Given the description of an element on the screen output the (x, y) to click on. 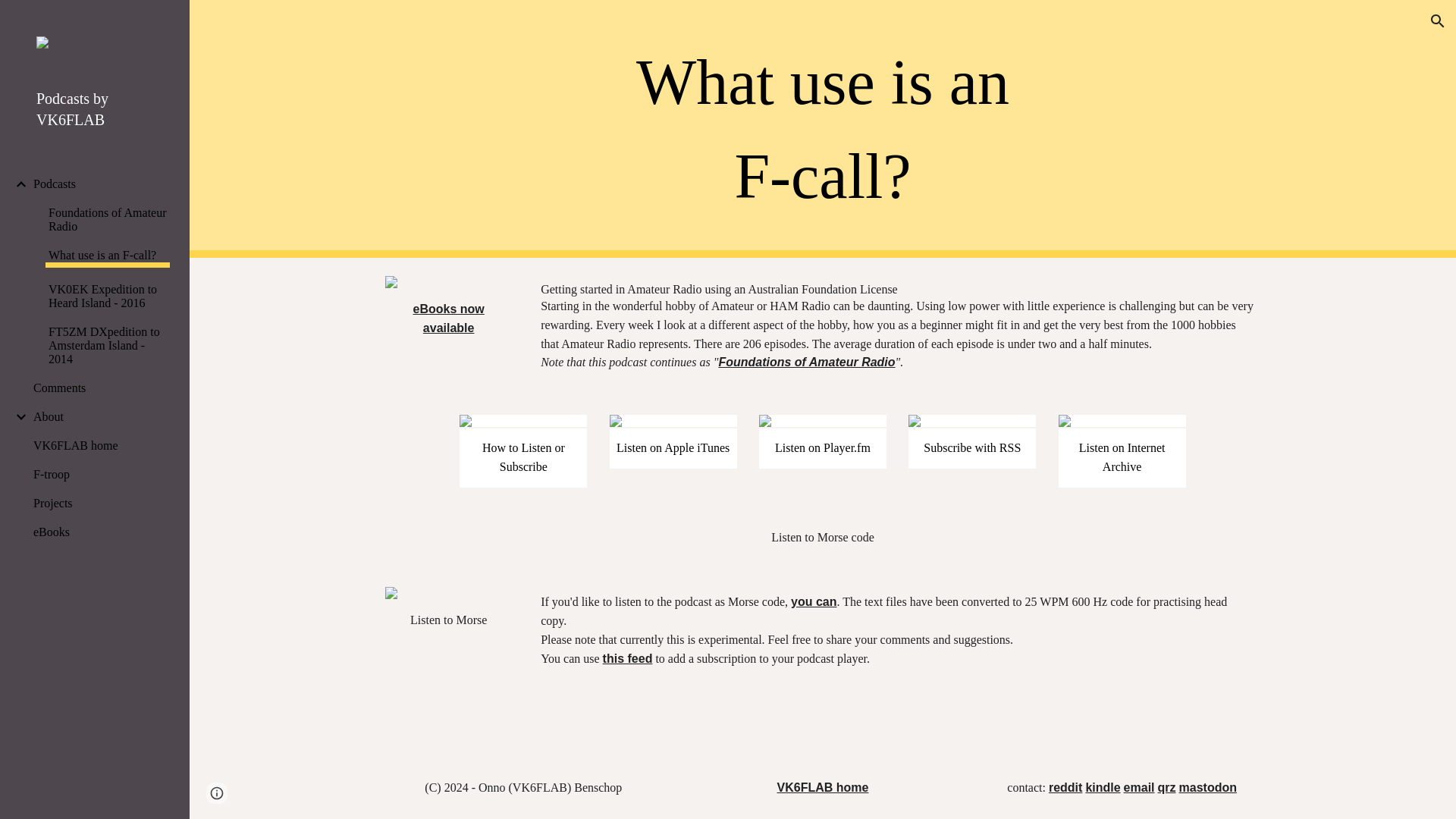
mastodon (1207, 787)
Projects (99, 503)
reddit (1064, 787)
you can (812, 601)
What use is an F-call? (107, 257)
VK0EK Expedition to Heard Island - 2016 (107, 296)
Foundations of Amateur Radio (806, 361)
F-troop (99, 474)
email (1139, 787)
Podcasts (99, 183)
Foundations of Amateur Radio (107, 219)
Podcasts by VK6FLAB (100, 108)
this feed (627, 658)
eBooks now available (448, 318)
VK6FLAB home (99, 445)
